Given the description of an element on the screen output the (x, y) to click on. 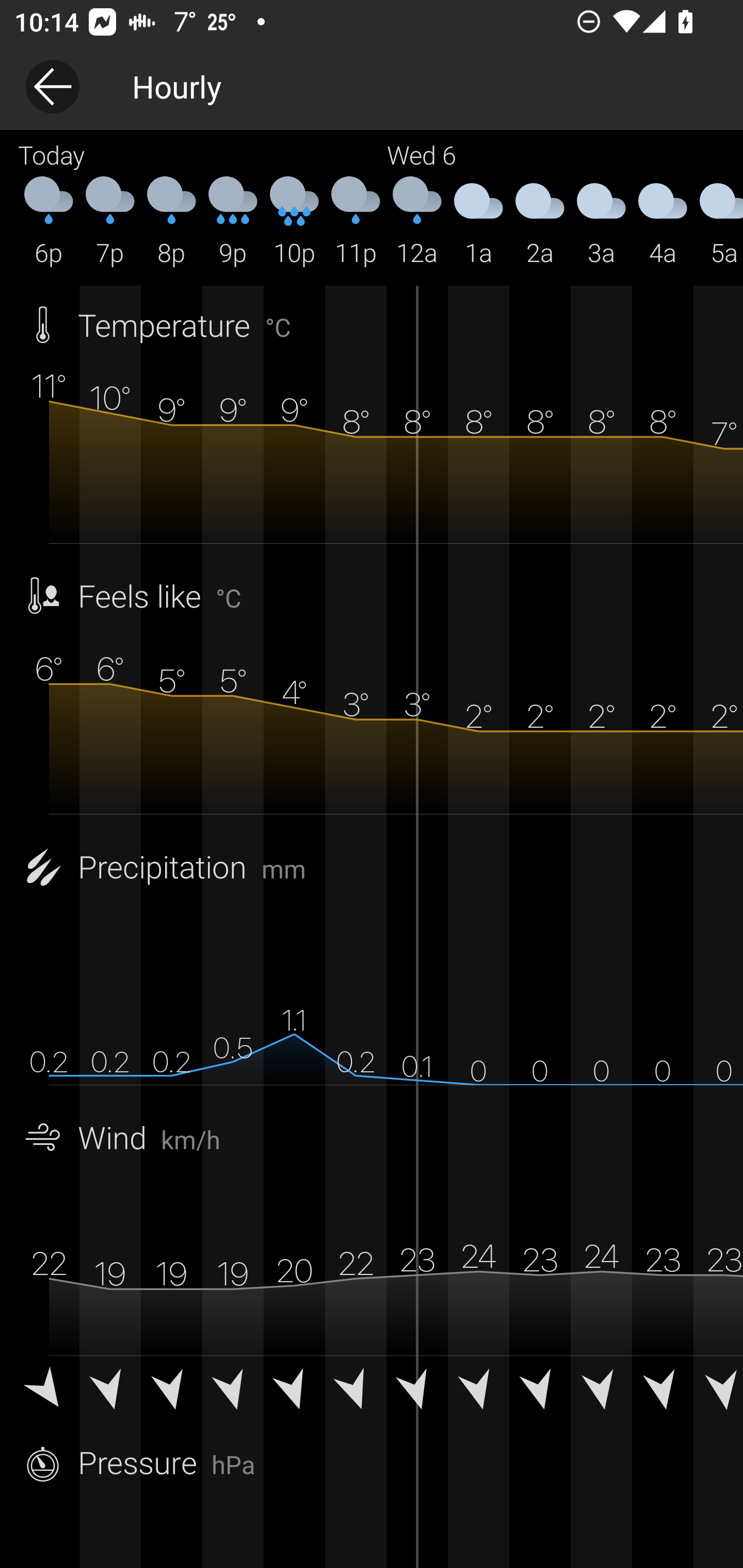
6p (48, 222)
7p (110, 222)
8p (171, 222)
9p (232, 222)
10p (294, 222)
11p (355, 222)
12a (417, 222)
1a (478, 222)
2a (539, 222)
3a (601, 222)
4a (662, 222)
5a (718, 222)
 (48, 1391)
 (110, 1391)
 (171, 1391)
 (232, 1391)
 (294, 1391)
 (355, 1391)
 (417, 1391)
 (478, 1391)
 (539, 1391)
 (601, 1391)
 (662, 1391)
 (718, 1391)
